Given the description of an element on the screen output the (x, y) to click on. 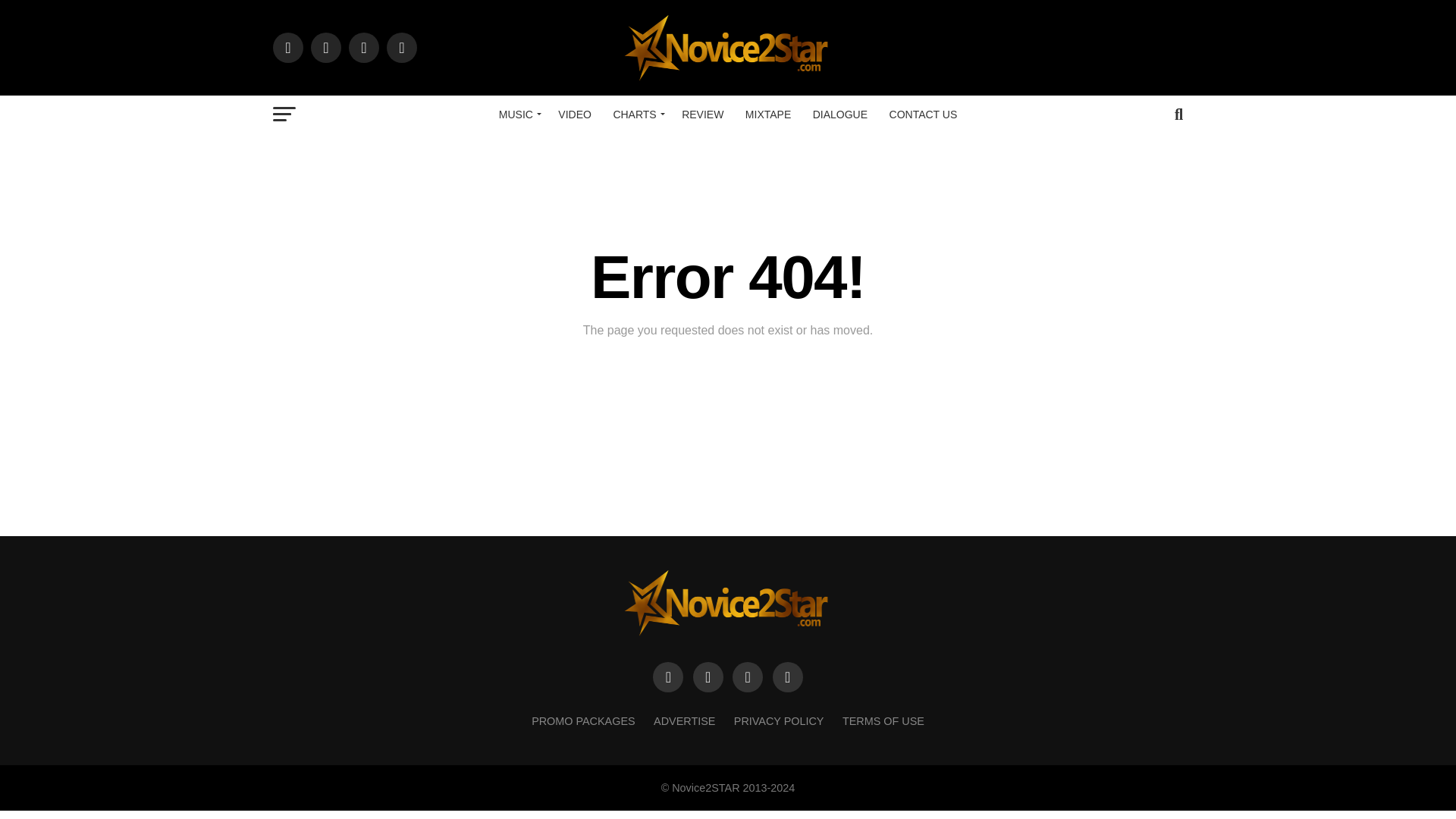
DIALOGUE (839, 114)
MUSIC (517, 114)
MIXTAPE (767, 114)
REVIEW (702, 114)
VIDEO (573, 114)
CHARTS (636, 114)
CONTACT US (923, 114)
